Given the description of an element on the screen output the (x, y) to click on. 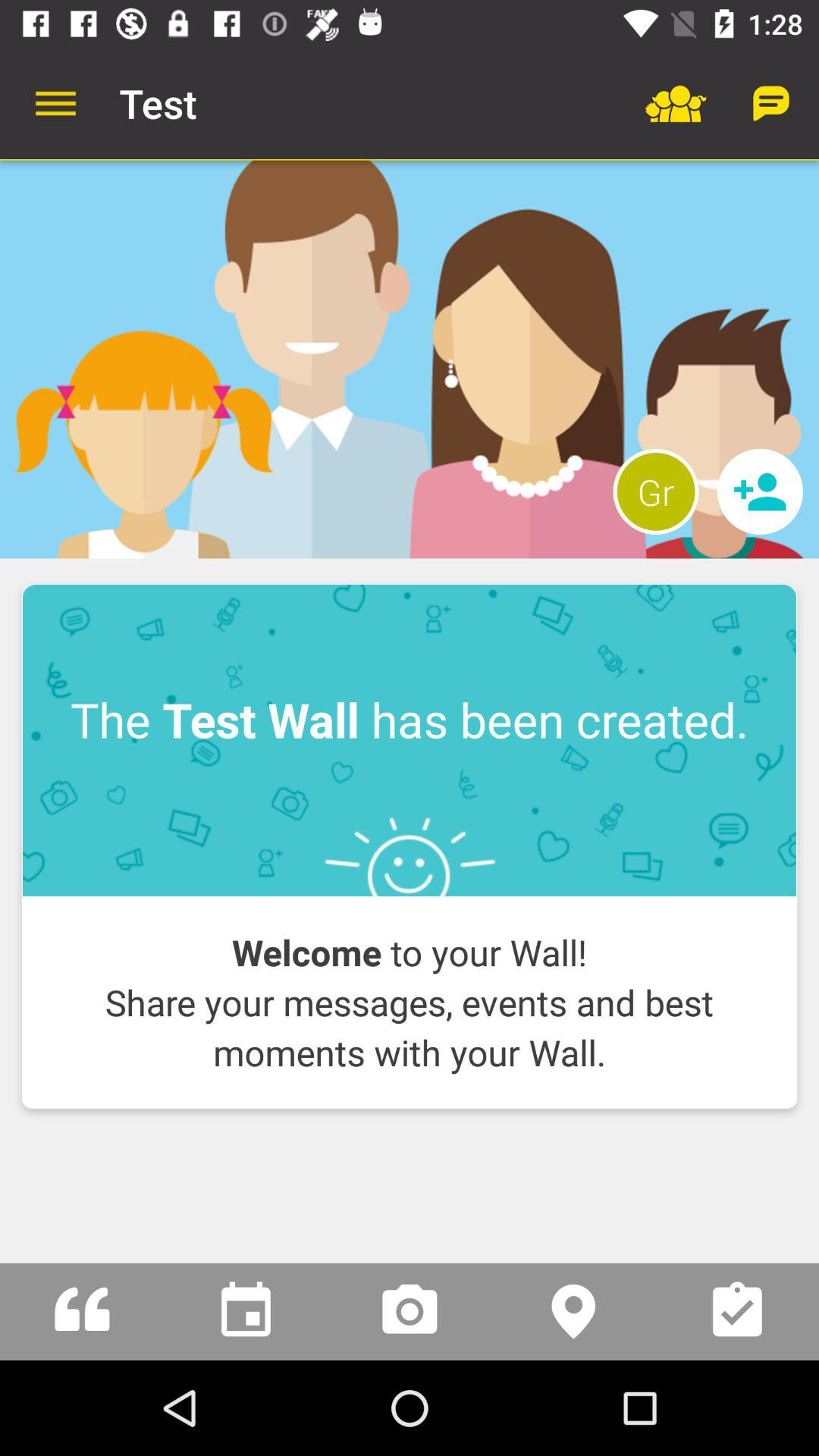
turn on the icon below welcome to your item (409, 1145)
